Given the description of an element on the screen output the (x, y) to click on. 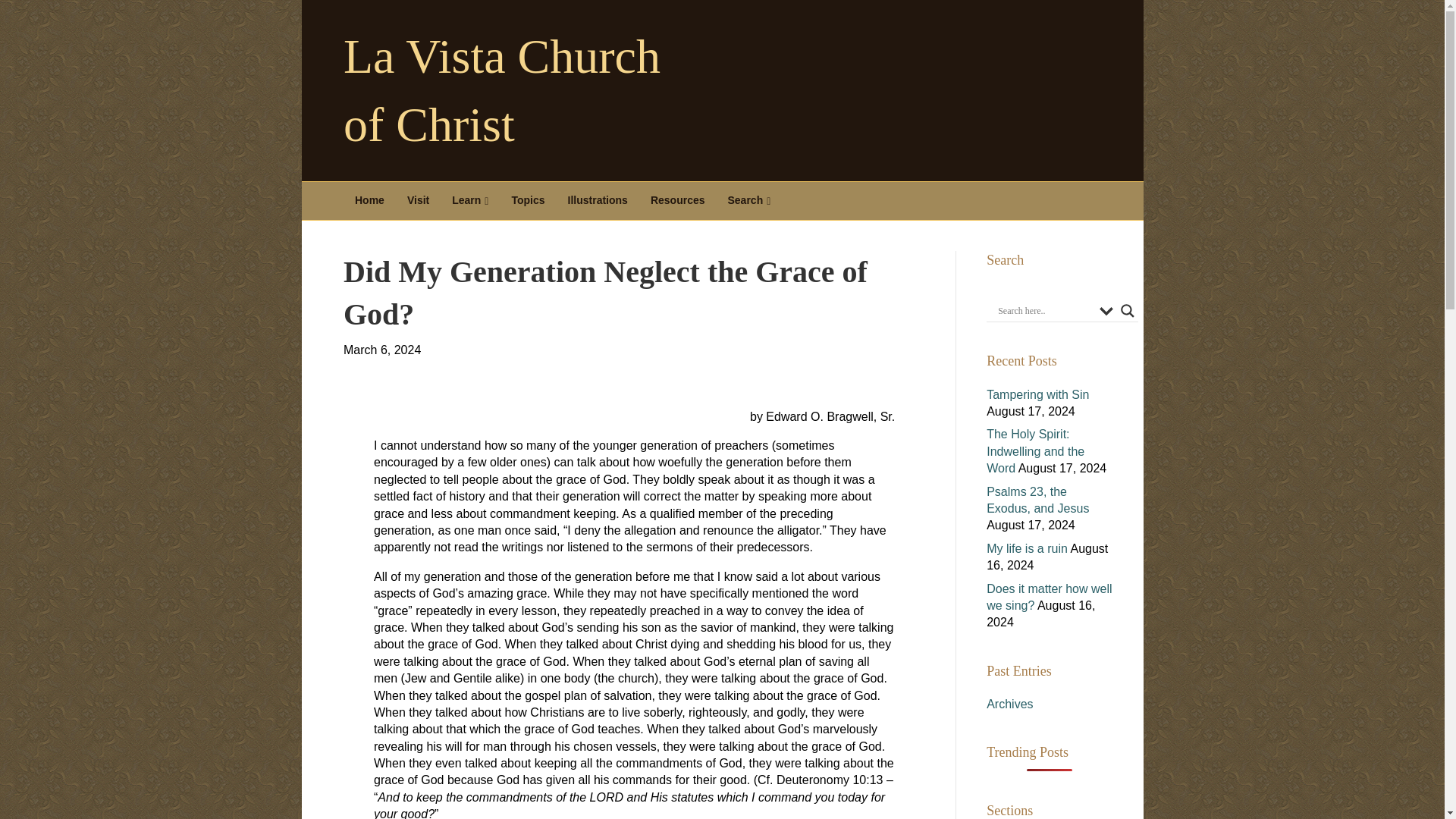
Home (369, 200)
Learn (470, 200)
Search (748, 200)
Topics (527, 200)
La Vista Church of Christ (521, 90)
Illustrations (597, 200)
Visit (418, 200)
Resources (677, 200)
